Given the description of an element on the screen output the (x, y) to click on. 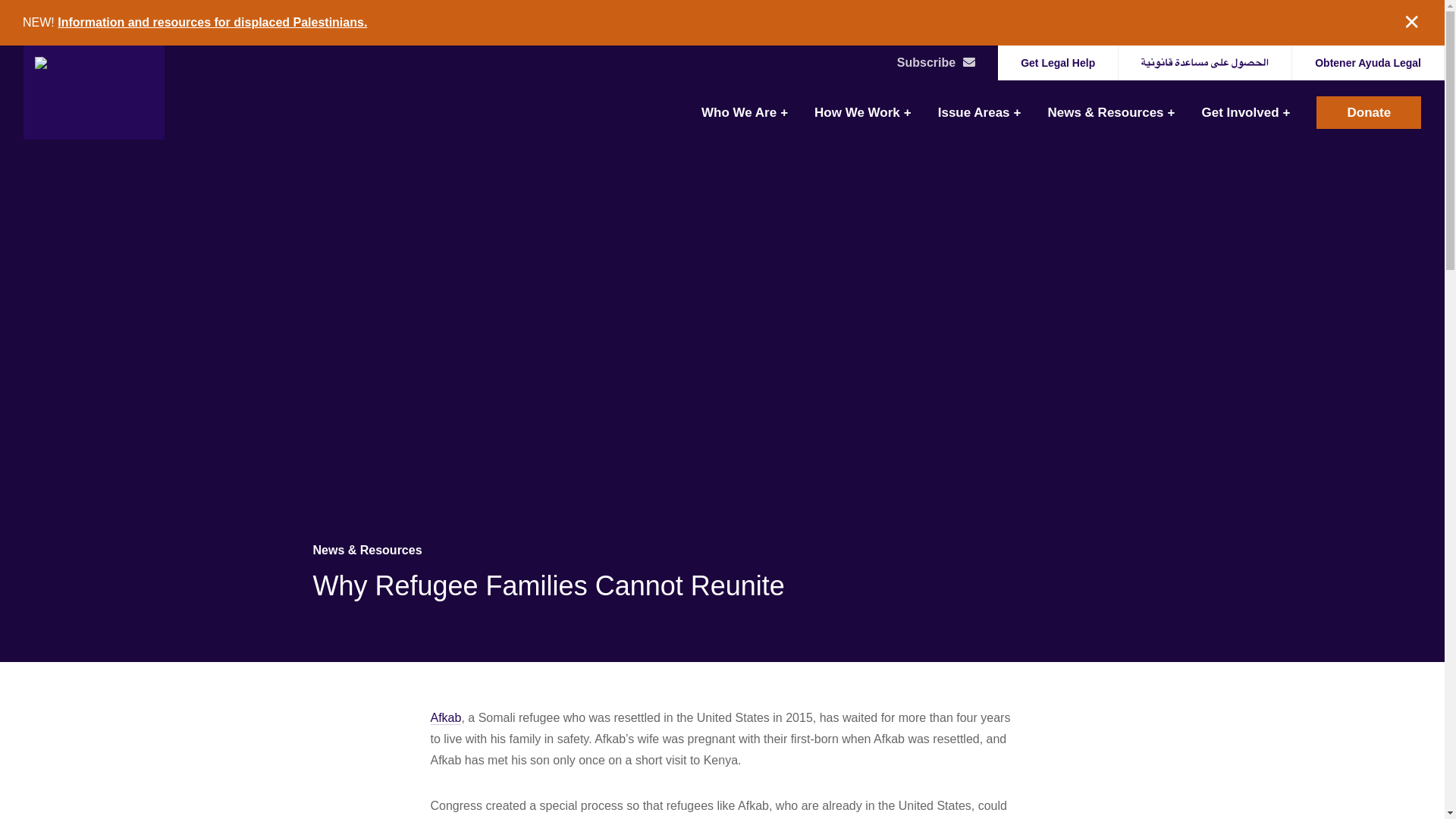
homepage (93, 91)
Information and resources for displaced Palestinians. (212, 21)
Who We Are (744, 112)
subscribe (968, 61)
Get Legal Help (1205, 62)
Issue Areas (979, 112)
How We Work (862, 112)
